Given the description of an element on the screen output the (x, y) to click on. 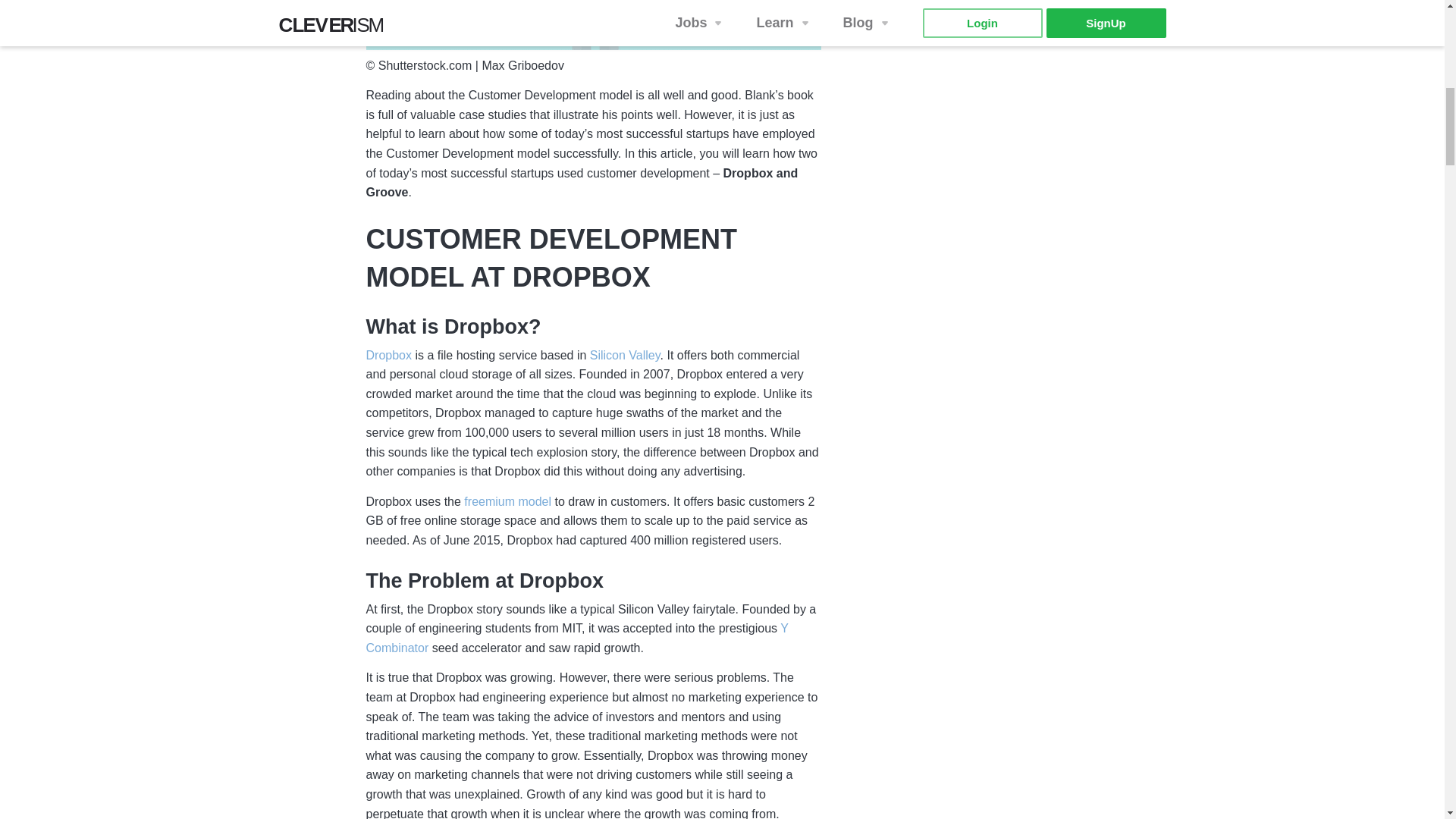
Customer Development Case Studies (593, 24)
Y Combinator (576, 638)
freemium model (507, 502)
Silicon Valley (625, 355)
Dropbox (387, 355)
